Given the description of an element on the screen output the (x, y) to click on. 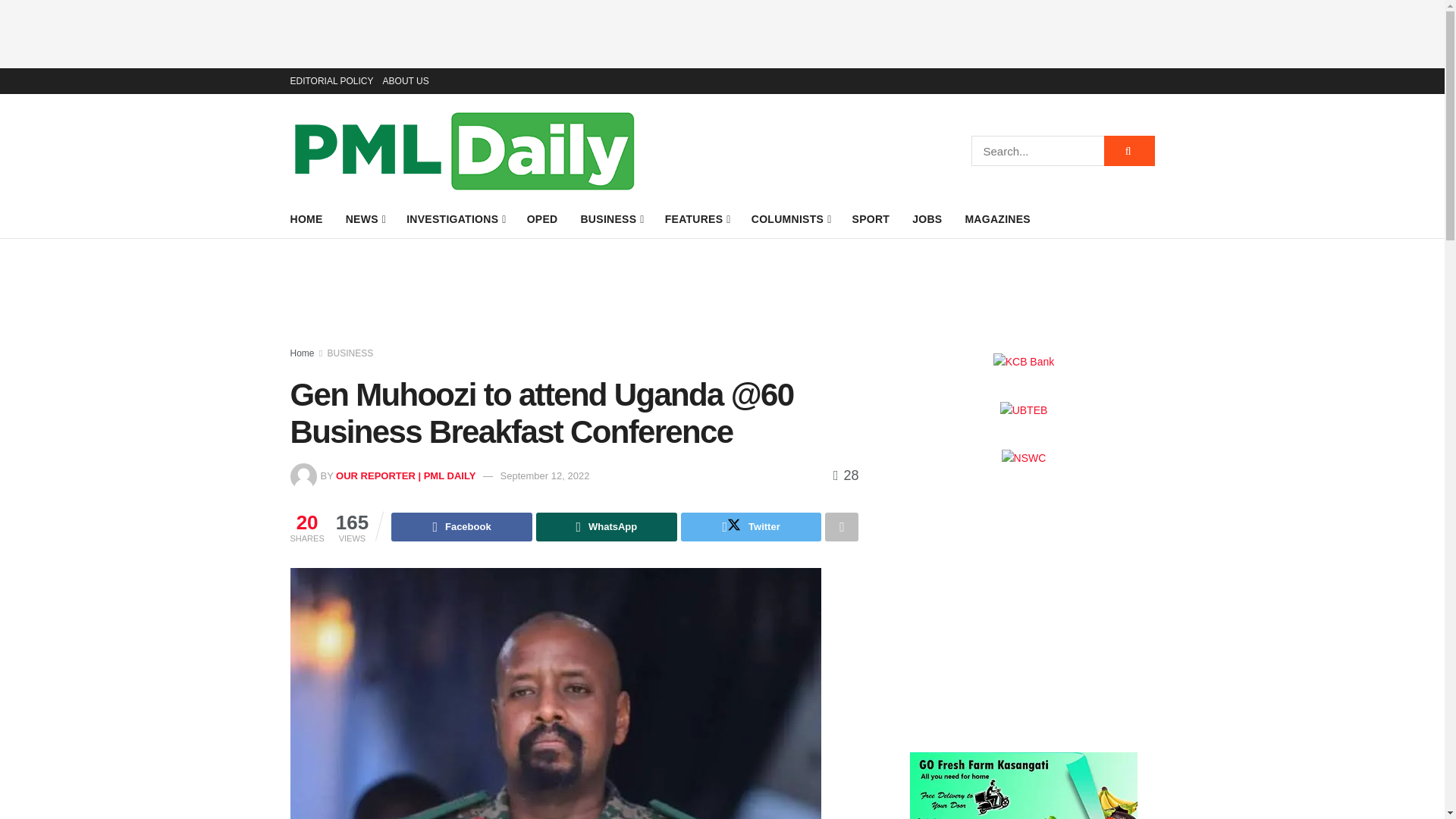
COLUMNISTS (790, 219)
EDITORIAL POLICY (330, 80)
JOBS (927, 219)
SPORT (870, 219)
INVESTIGATIONS (454, 219)
FEATURES (697, 219)
ABOUT US (405, 80)
OPED (542, 219)
NEWS (365, 219)
MAGAZINES (996, 219)
